Given the description of an element on the screen output the (x, y) to click on. 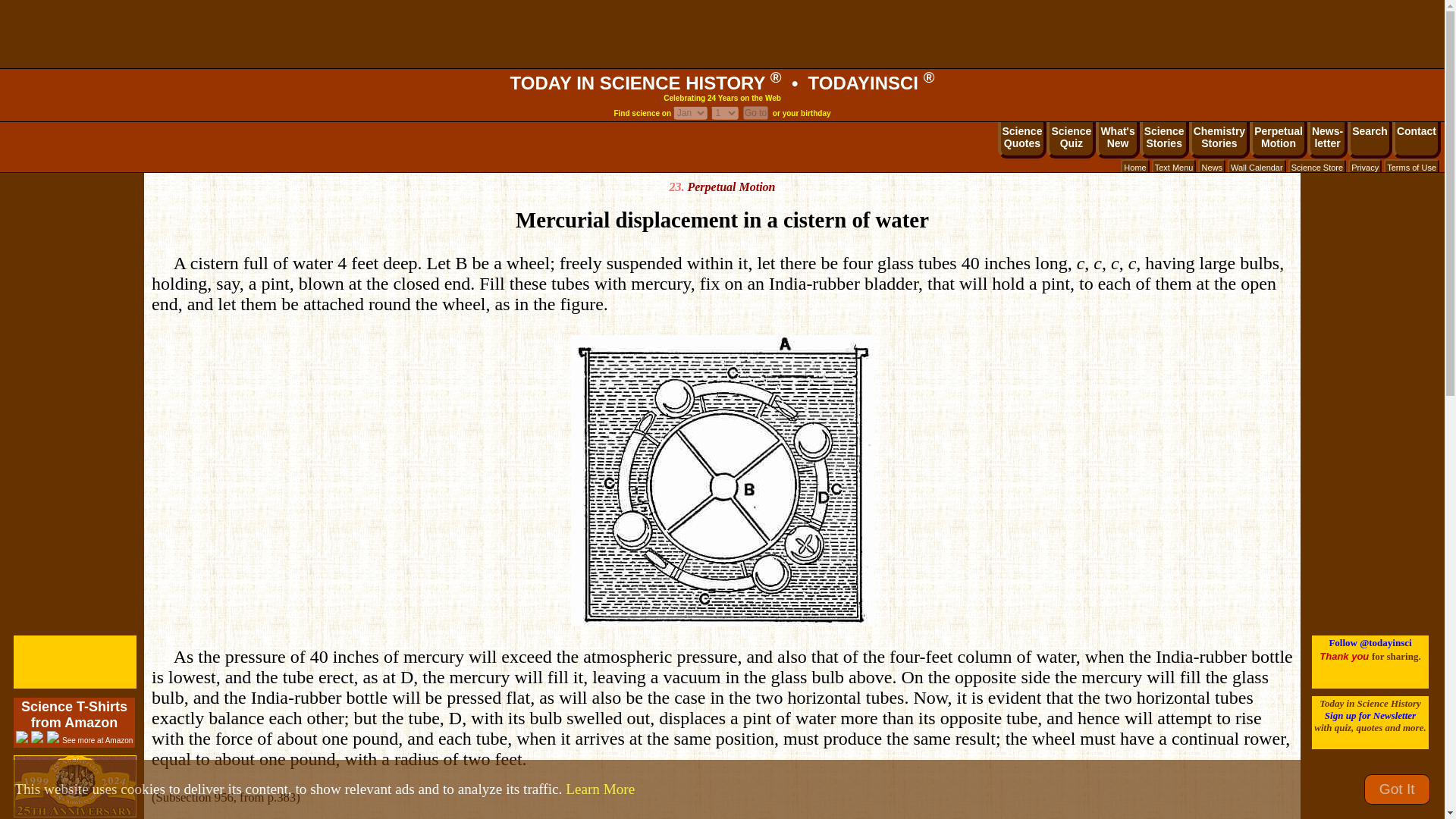
Text Menu (1219, 140)
Search (1173, 167)
Our Science Store books and more (1369, 140)
Privacy (1316, 167)
Printable Wall Calendar (1278, 140)
Home (1364, 167)
Science Store (1256, 167)
Go to (1134, 167)
Home (1316, 167)
Advertisement (755, 112)
